Given the description of an element on the screen output the (x, y) to click on. 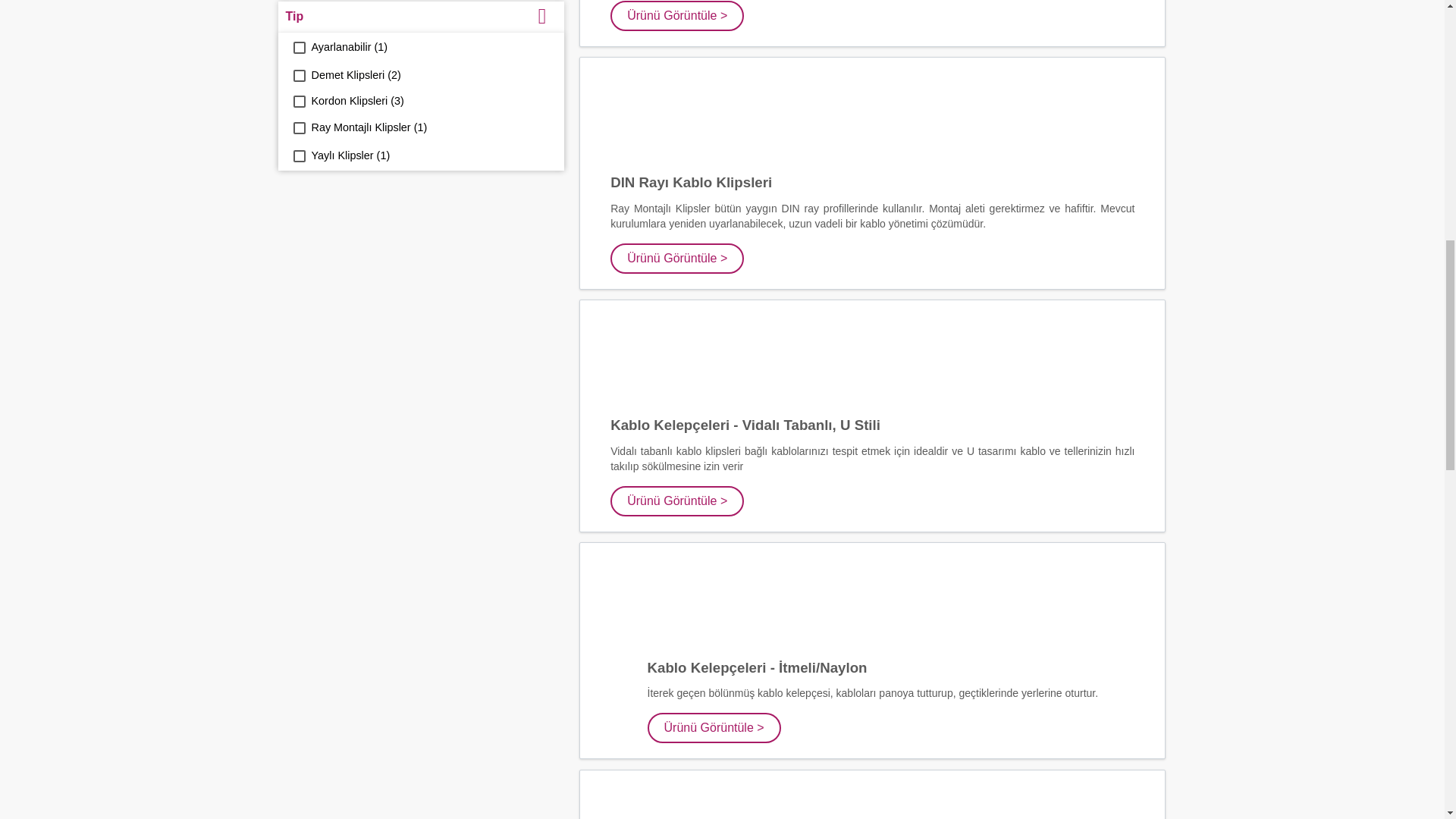
Kordon Klipsleri (298, 101)
Demet Klipsleri (298, 75)
Ayarlanabilir (298, 47)
